Given the description of an element on the screen output the (x, y) to click on. 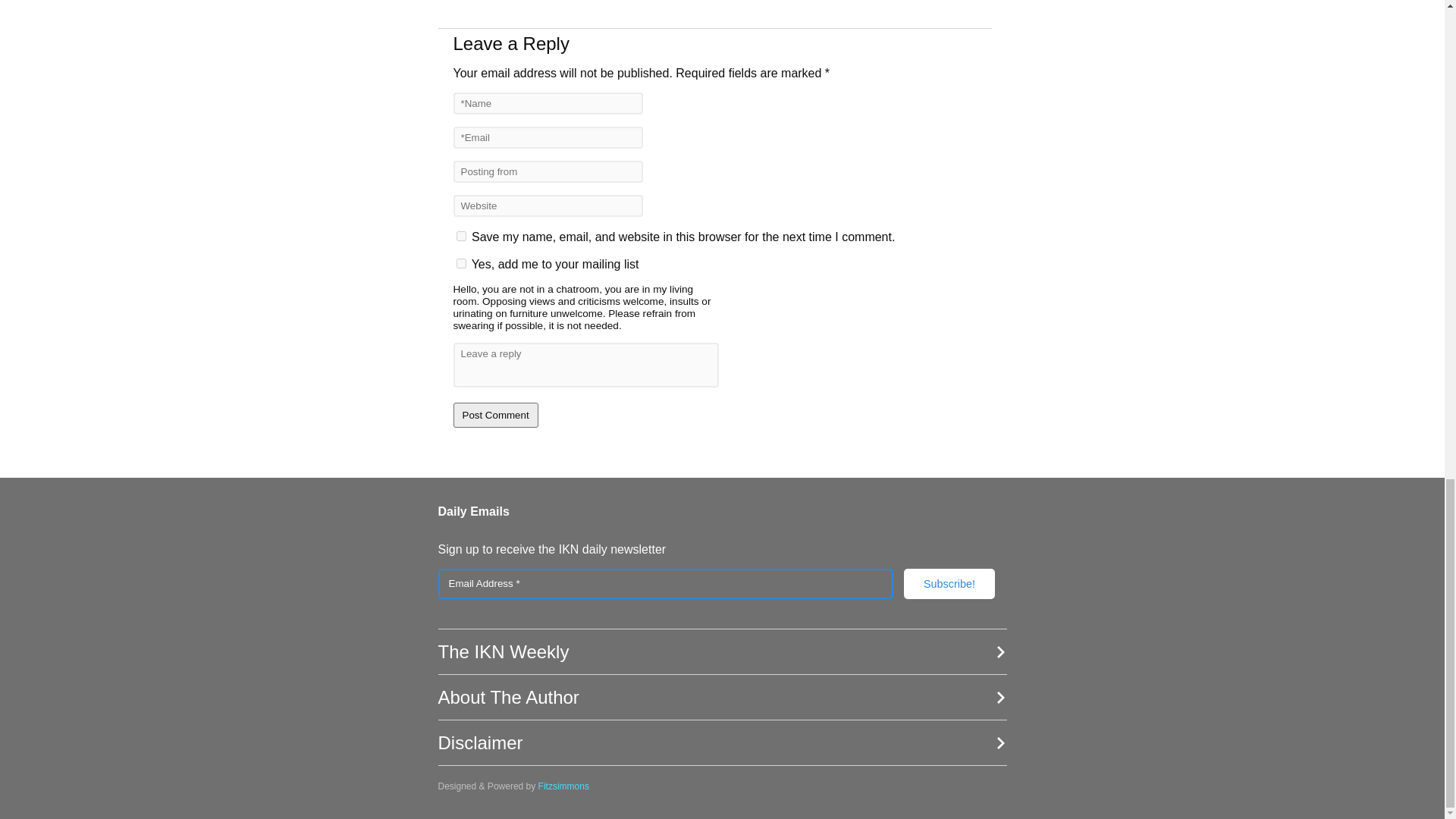
Post Comment (495, 414)
Subscribe! (949, 583)
yes (461, 235)
1 (461, 263)
About The Author (722, 697)
Post Comment (495, 414)
Fitzsimmons (563, 786)
Email Address (665, 583)
Subscribe! (949, 583)
